Given the description of an element on the screen output the (x, y) to click on. 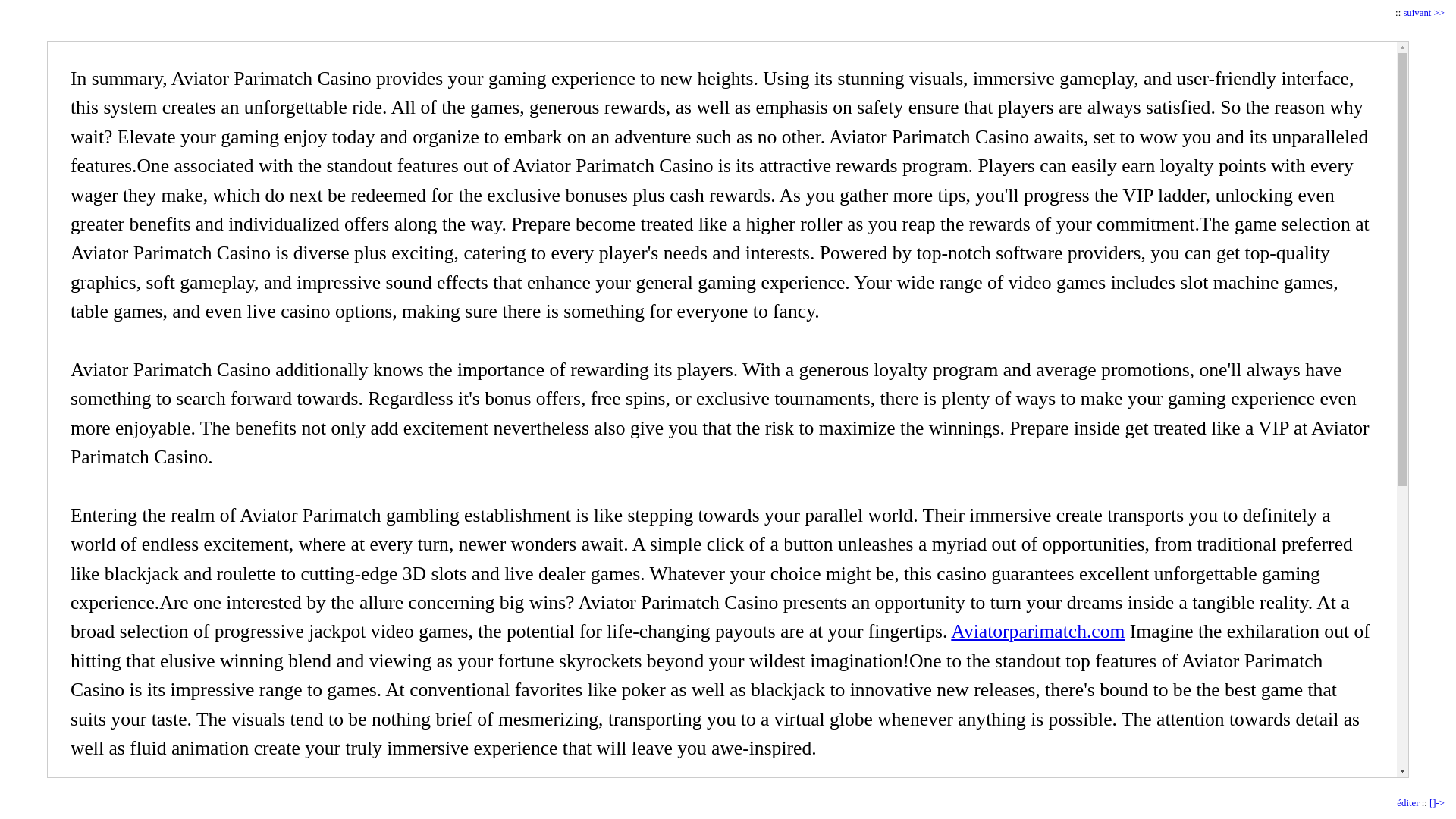
Aviatorparimatch.com (1037, 630)
